Given the description of an element on the screen output the (x, y) to click on. 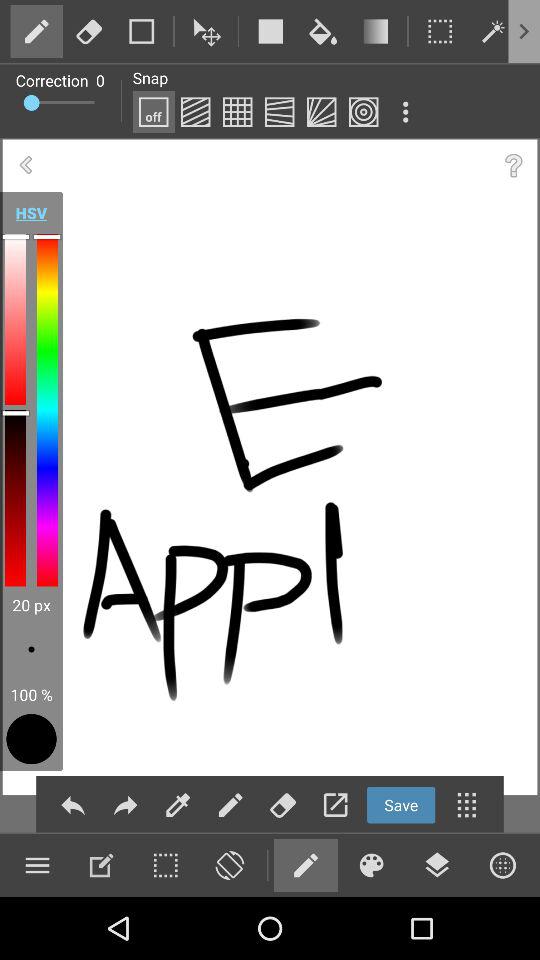
help button (513, 165)
